Given the description of an element on the screen output the (x, y) to click on. 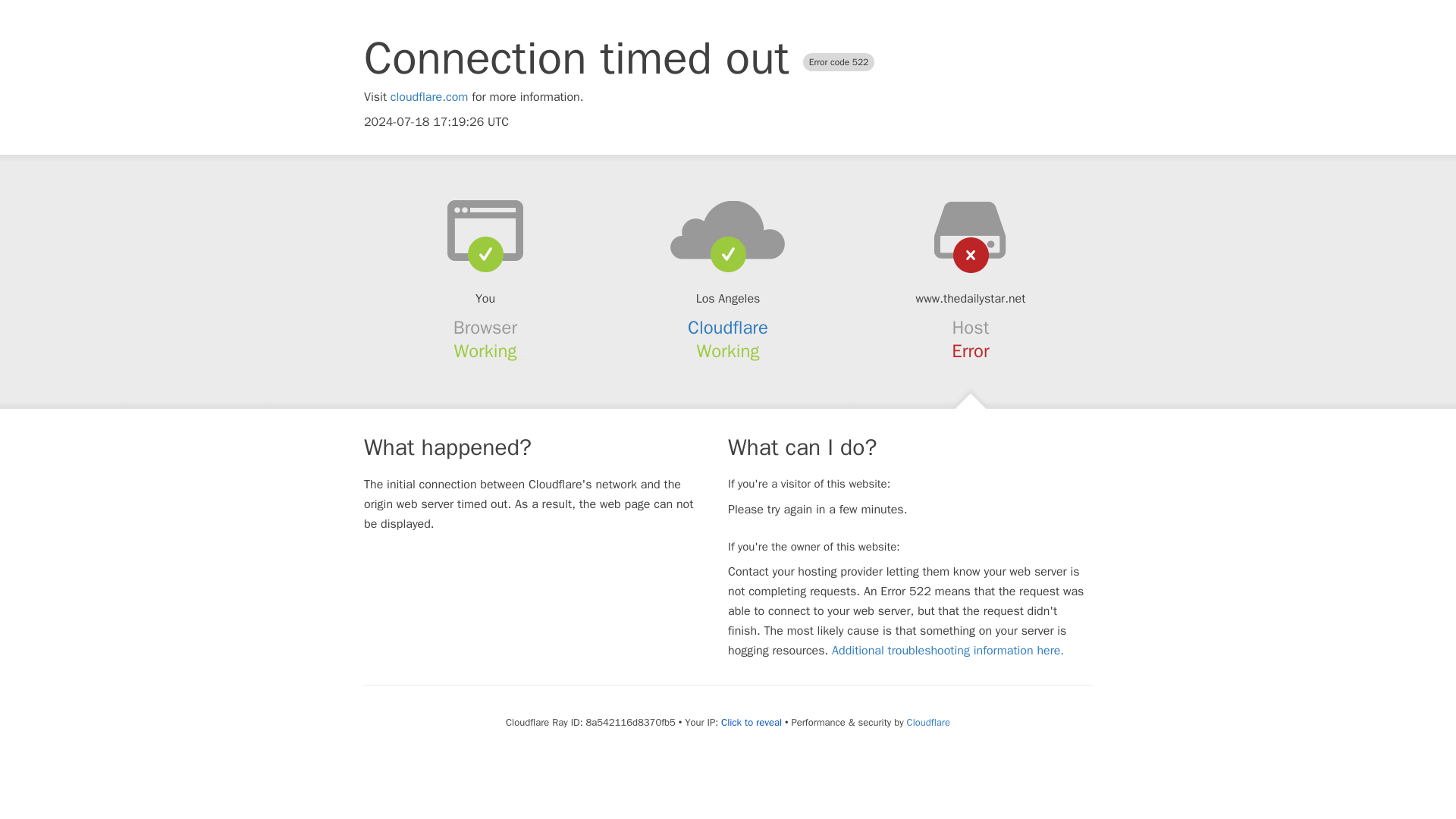
cloudflare.com (429, 96)
Click to reveal (750, 722)
Additional troubleshooting information here. (947, 650)
Cloudflare (727, 327)
Cloudflare (928, 721)
